Given the description of an element on the screen output the (x, y) to click on. 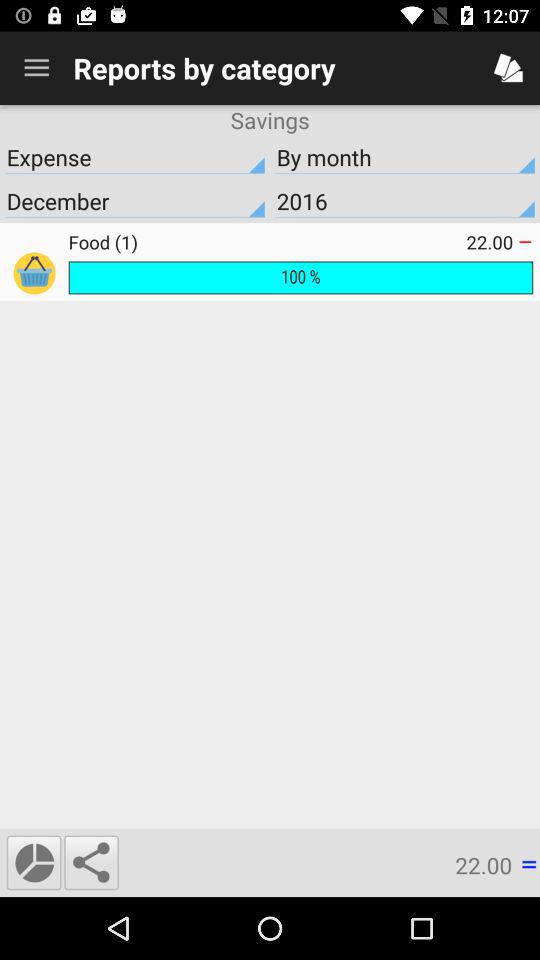
press icon to the left of 22.00 icon (267, 241)
